Given the description of an element on the screen output the (x, y) to click on. 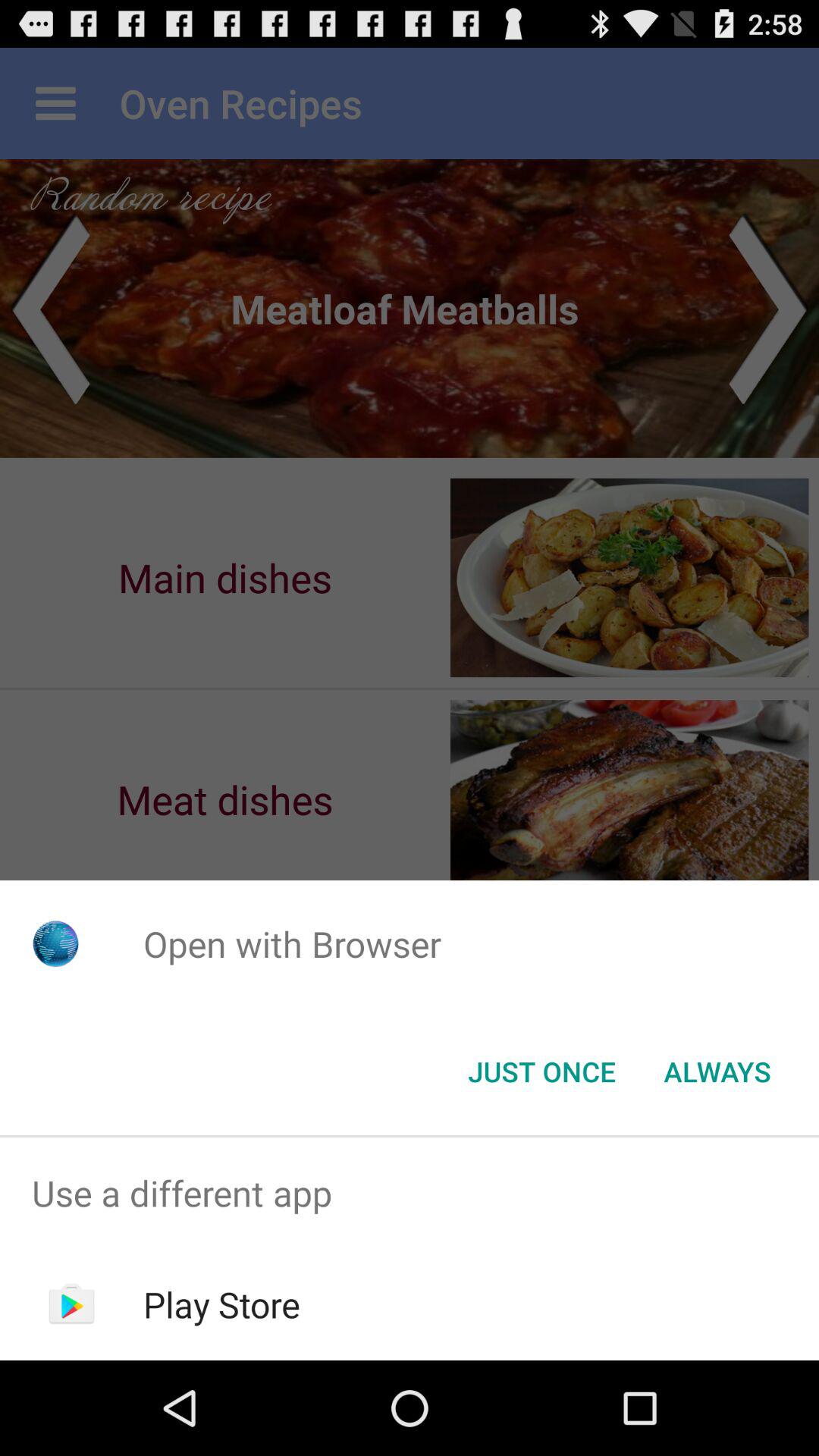
press the button next to the just once (717, 1071)
